Given the description of an element on the screen output the (x, y) to click on. 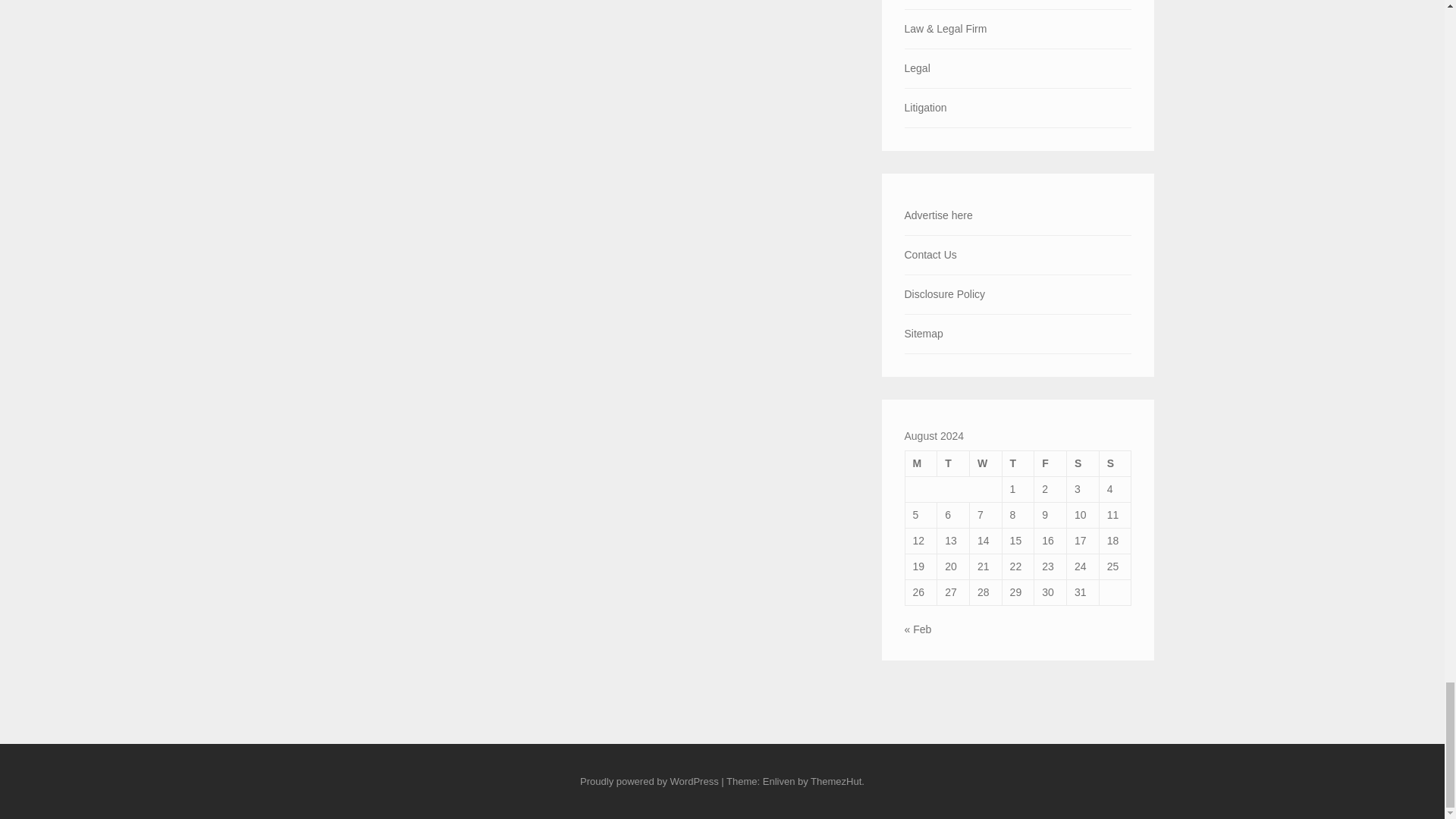
Thursday (1017, 462)
Friday (1050, 462)
Wednesday (985, 462)
Saturday (1083, 462)
Tuesday (953, 462)
Sunday (1115, 462)
Monday (920, 462)
